Given the description of an element on the screen output the (x, y) to click on. 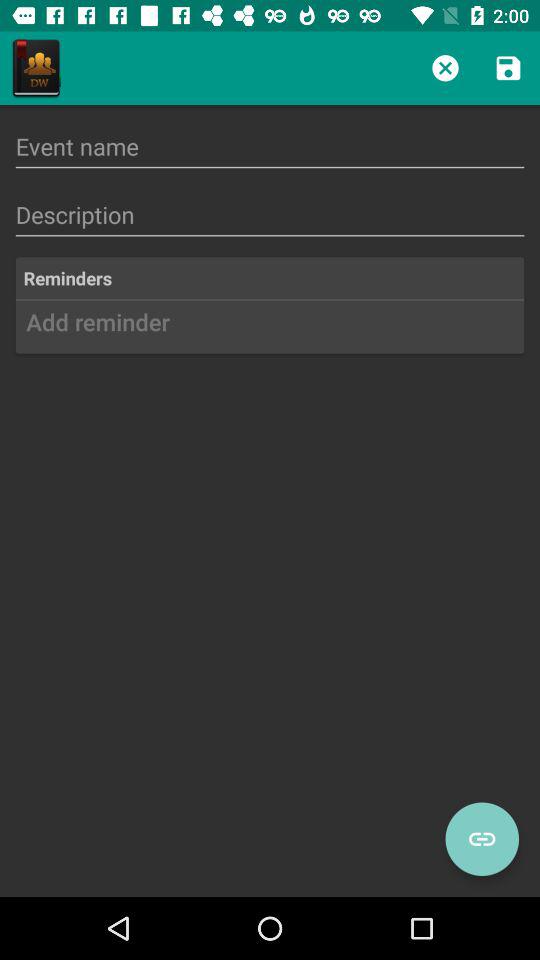
input data about event name (269, 146)
